Given the description of an element on the screen output the (x, y) to click on. 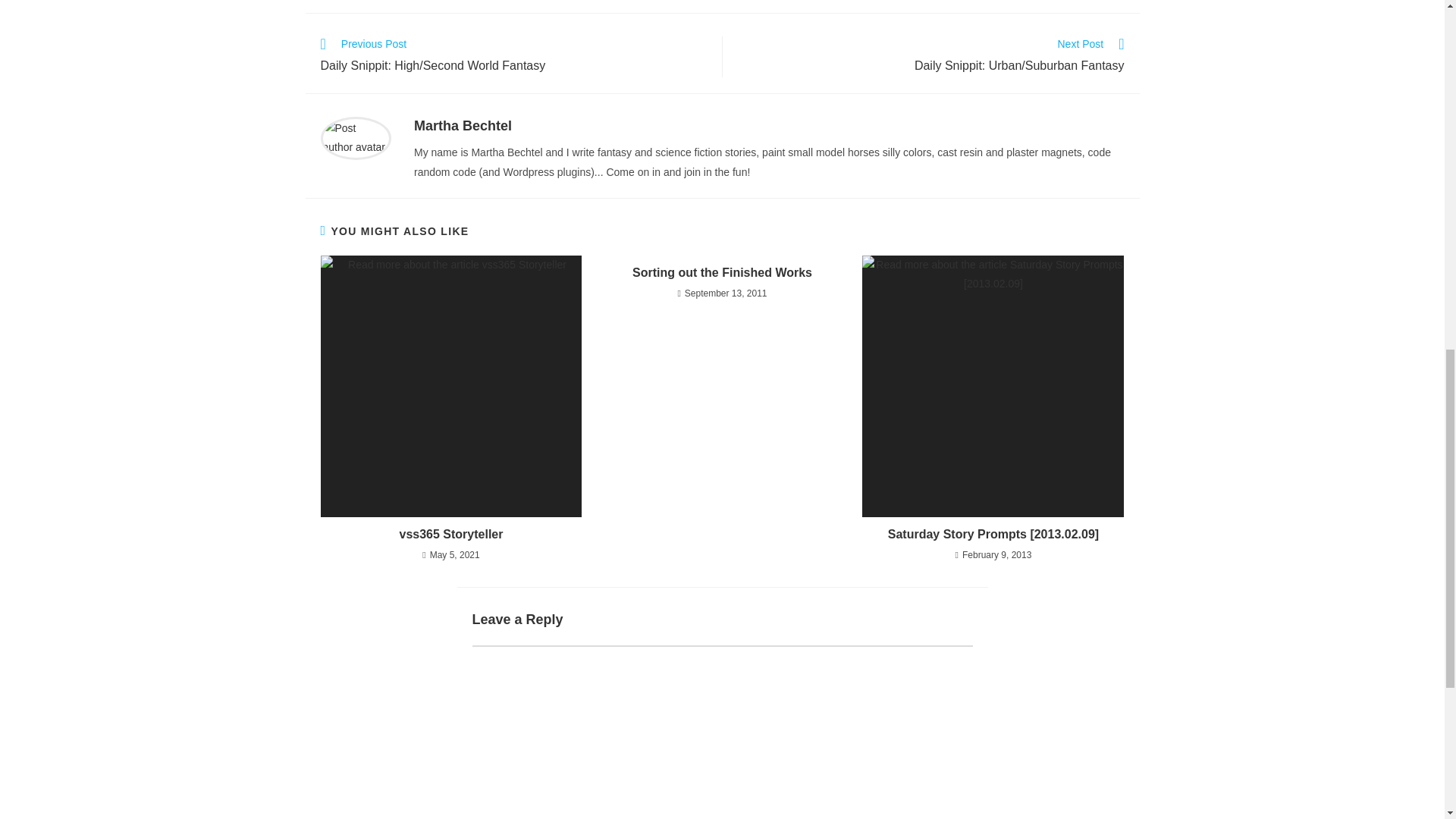
Comment Form (721, 732)
Visit author page (462, 125)
Visit author page (355, 137)
